Given the description of an element on the screen output the (x, y) to click on. 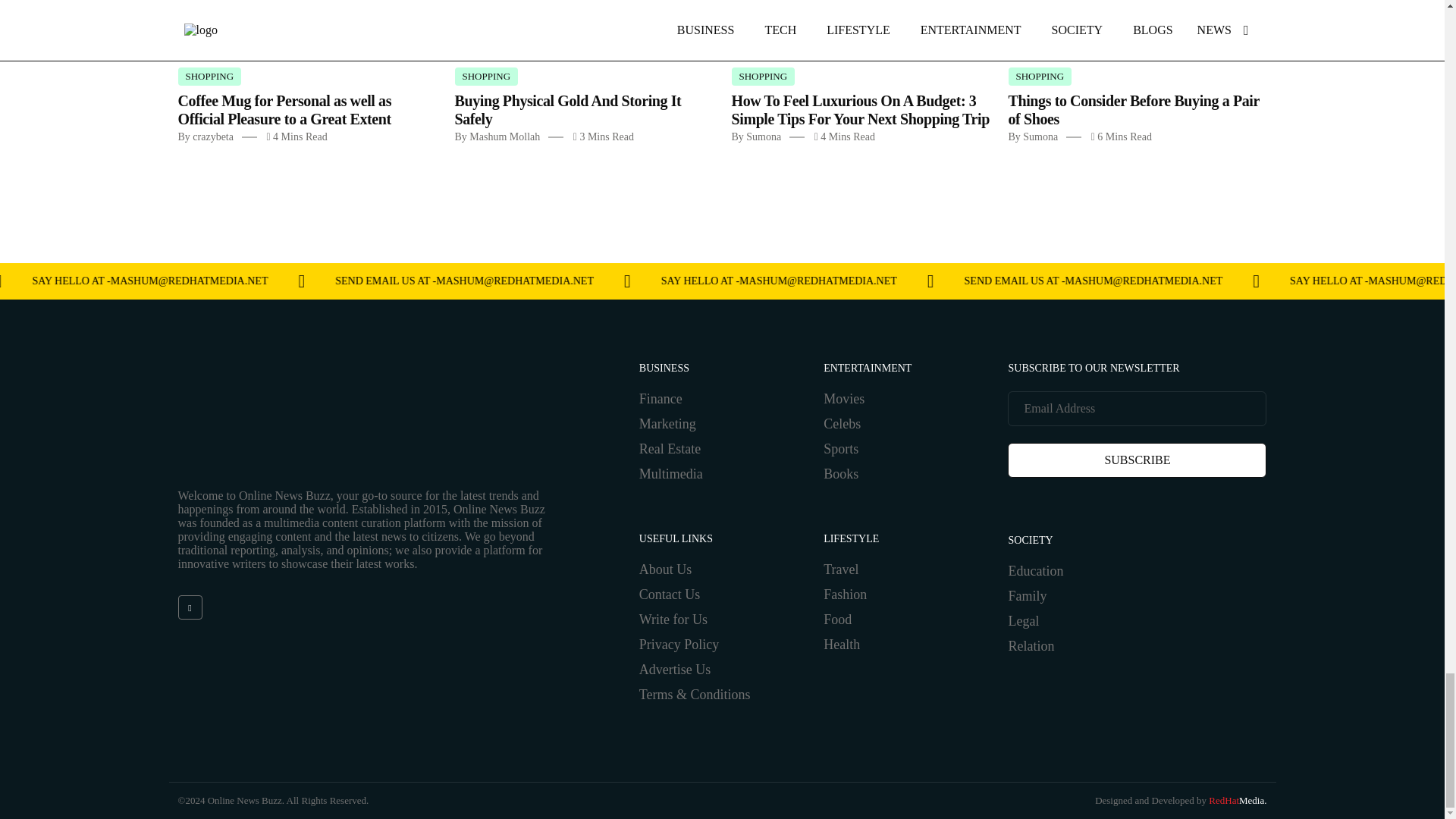
Subscribe (1136, 460)
Shopping (1040, 76)
Shopping (762, 76)
Shopping (209, 76)
Shopping (486, 76)
